Given the description of an element on the screen output the (x, y) to click on. 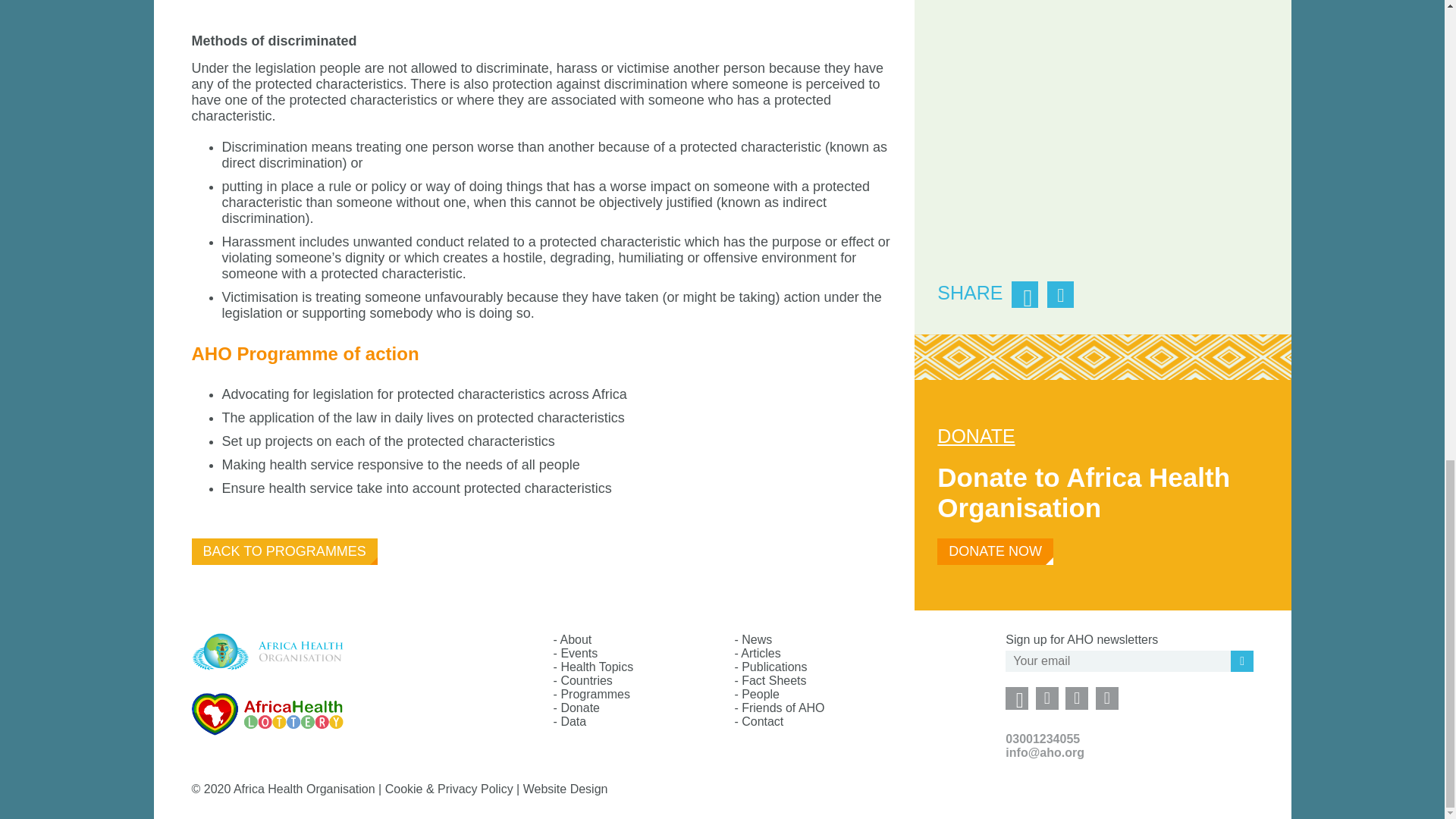
BACK TO PROGRAMMES (283, 551)
DONATE NOW (994, 551)
